Given the description of an element on the screen output the (x, y) to click on. 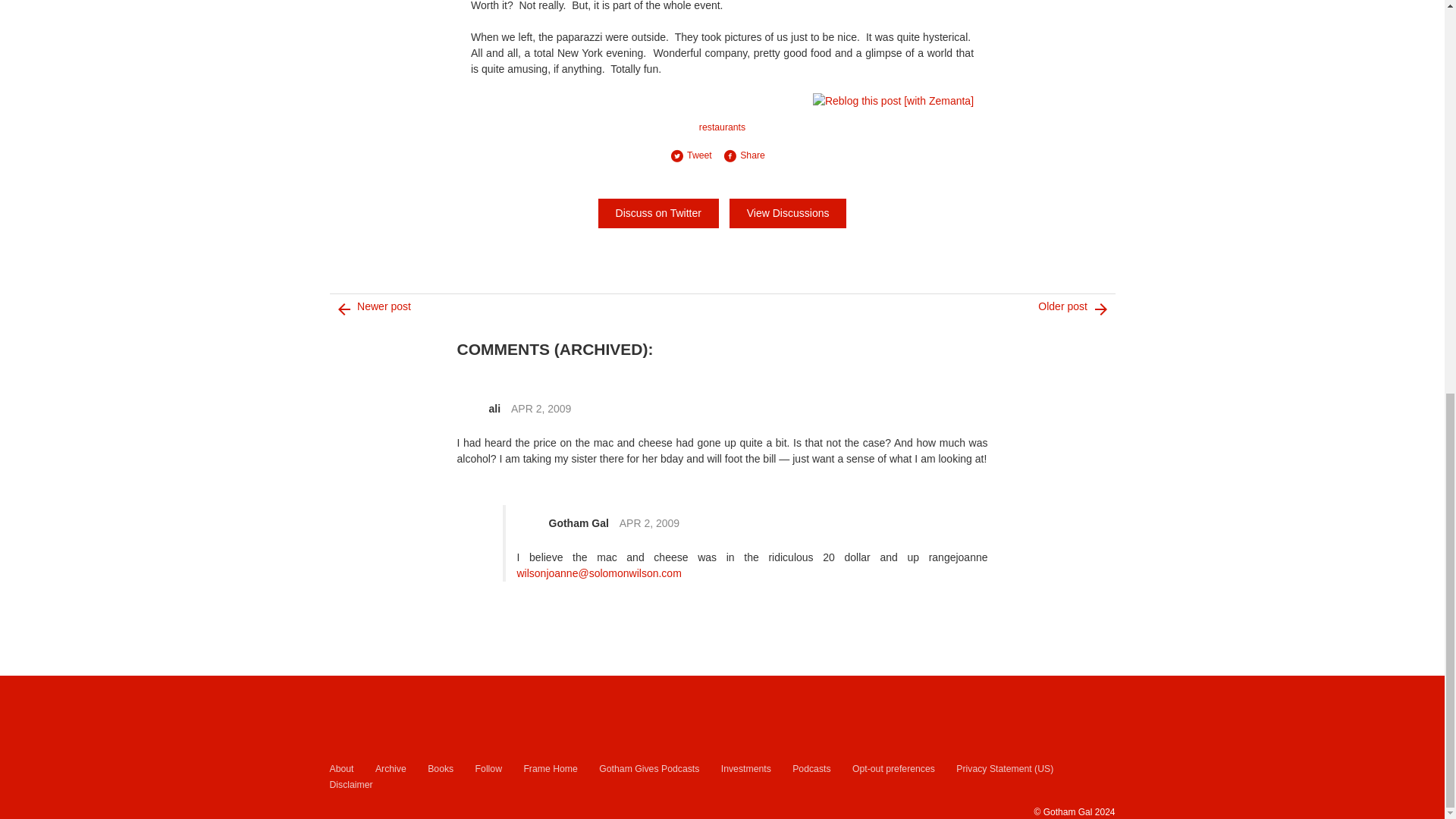
Investments (745, 768)
Frame Home (549, 768)
About (341, 768)
Tweet (696, 154)
Share (748, 154)
Gotham Gives Podcasts (648, 768)
Opt-out preferences (892, 768)
Follow (489, 768)
Podcasts (810, 768)
Archive (390, 768)
